Given the description of an element on the screen output the (x, y) to click on. 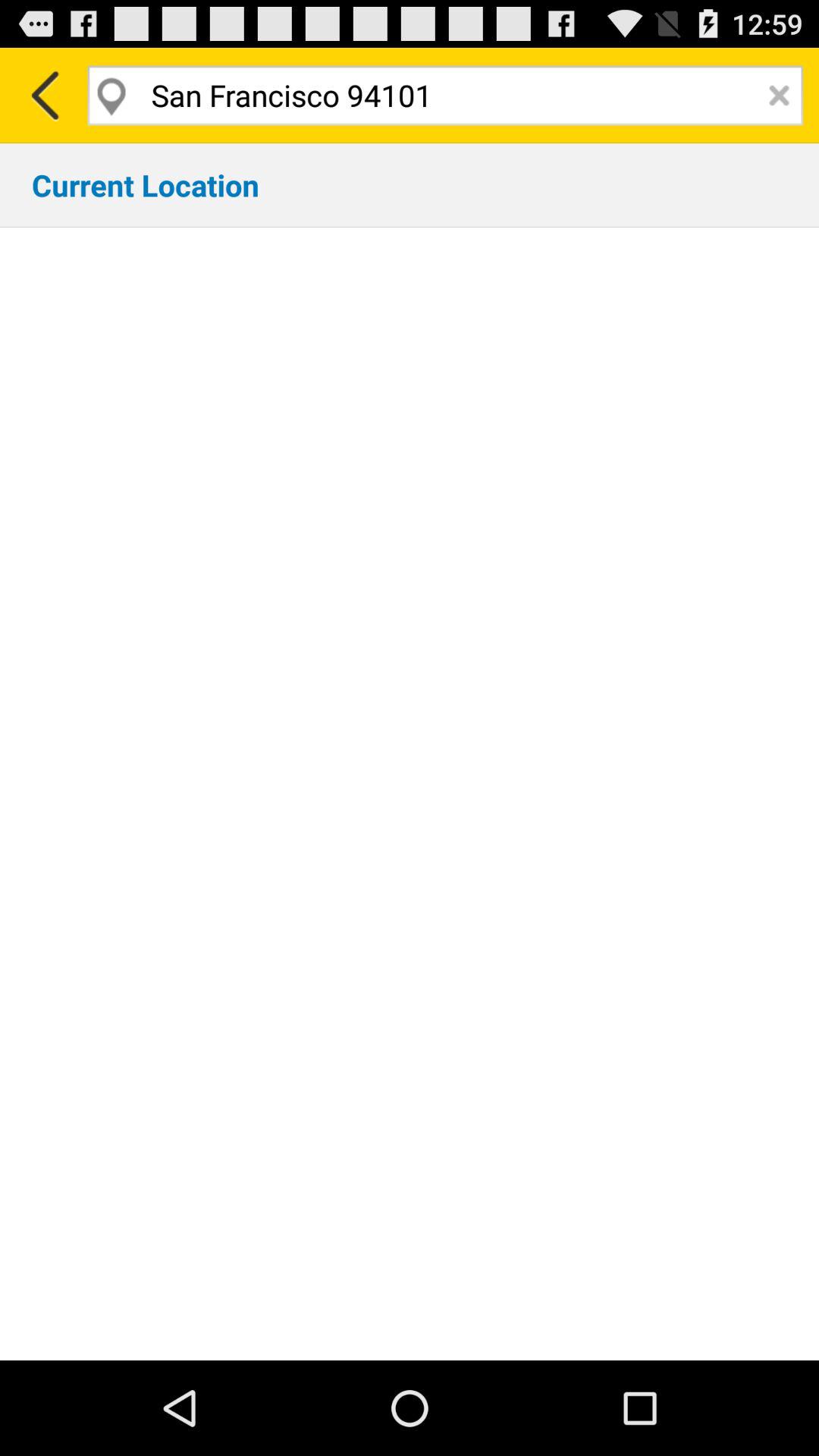
remove (779, 95)
